Given the description of an element on the screen output the (x, y) to click on. 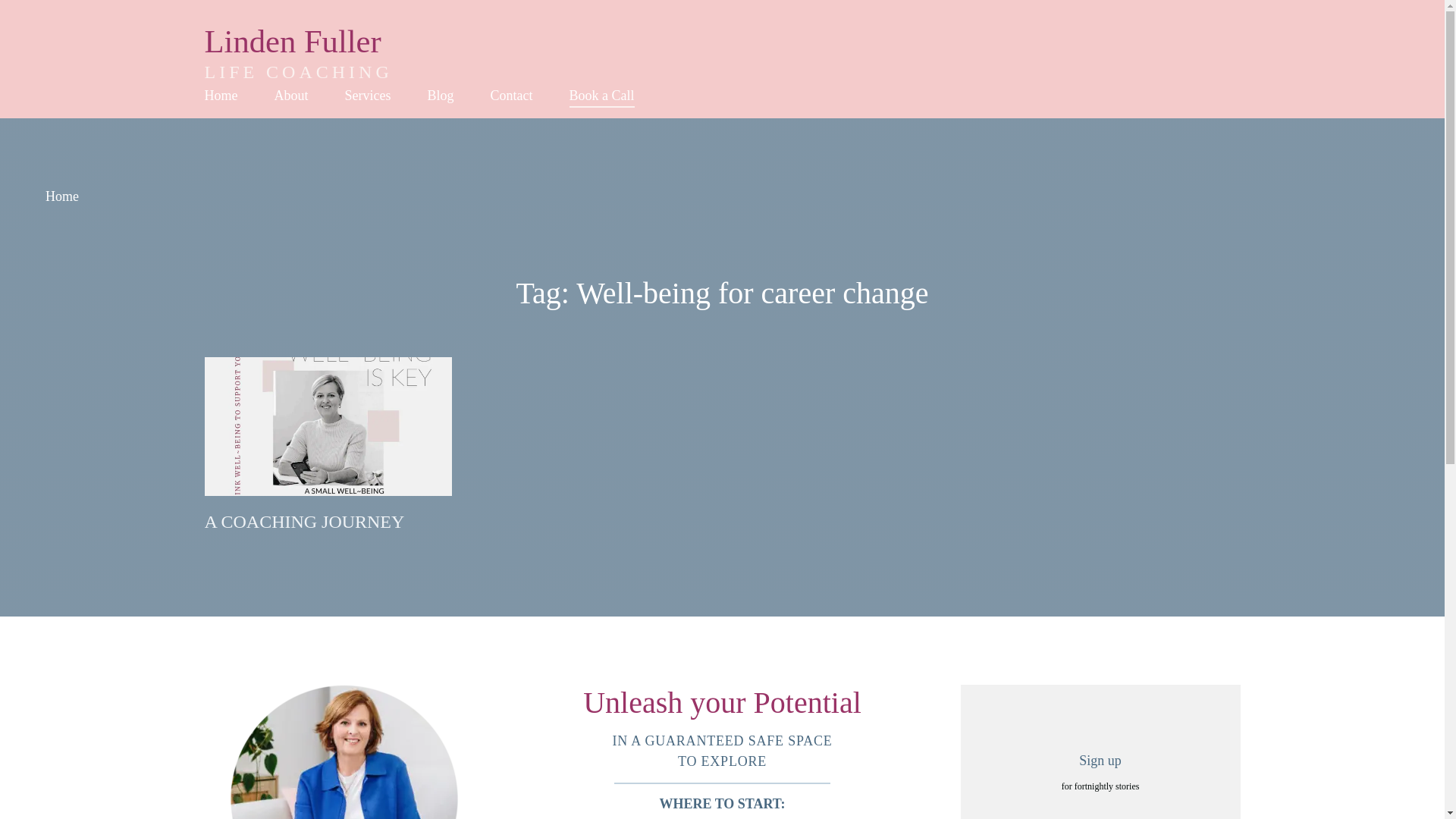
Blog (722, 47)
Services (439, 95)
Home (366, 95)
Book a Call (221, 95)
Home (601, 95)
A COACHING JOURNEY (61, 196)
About (304, 521)
Contact (291, 95)
